Given the description of an element on the screen output the (x, y) to click on. 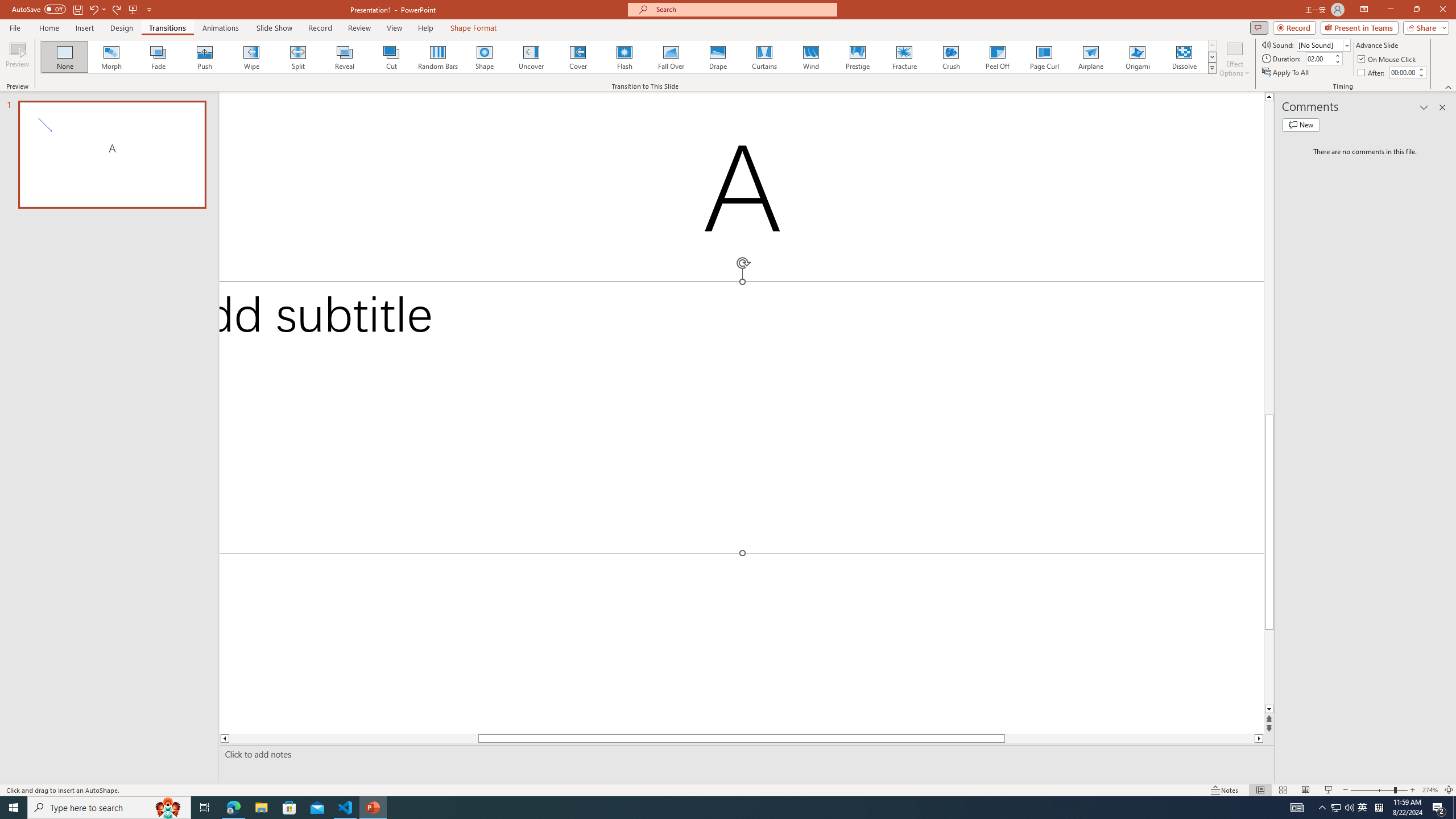
Fracture (903, 56)
Drape (717, 56)
Transition Effects (1212, 67)
Page Curl (1043, 56)
Origami (1136, 56)
